Given the description of an element on the screen output the (x, y) to click on. 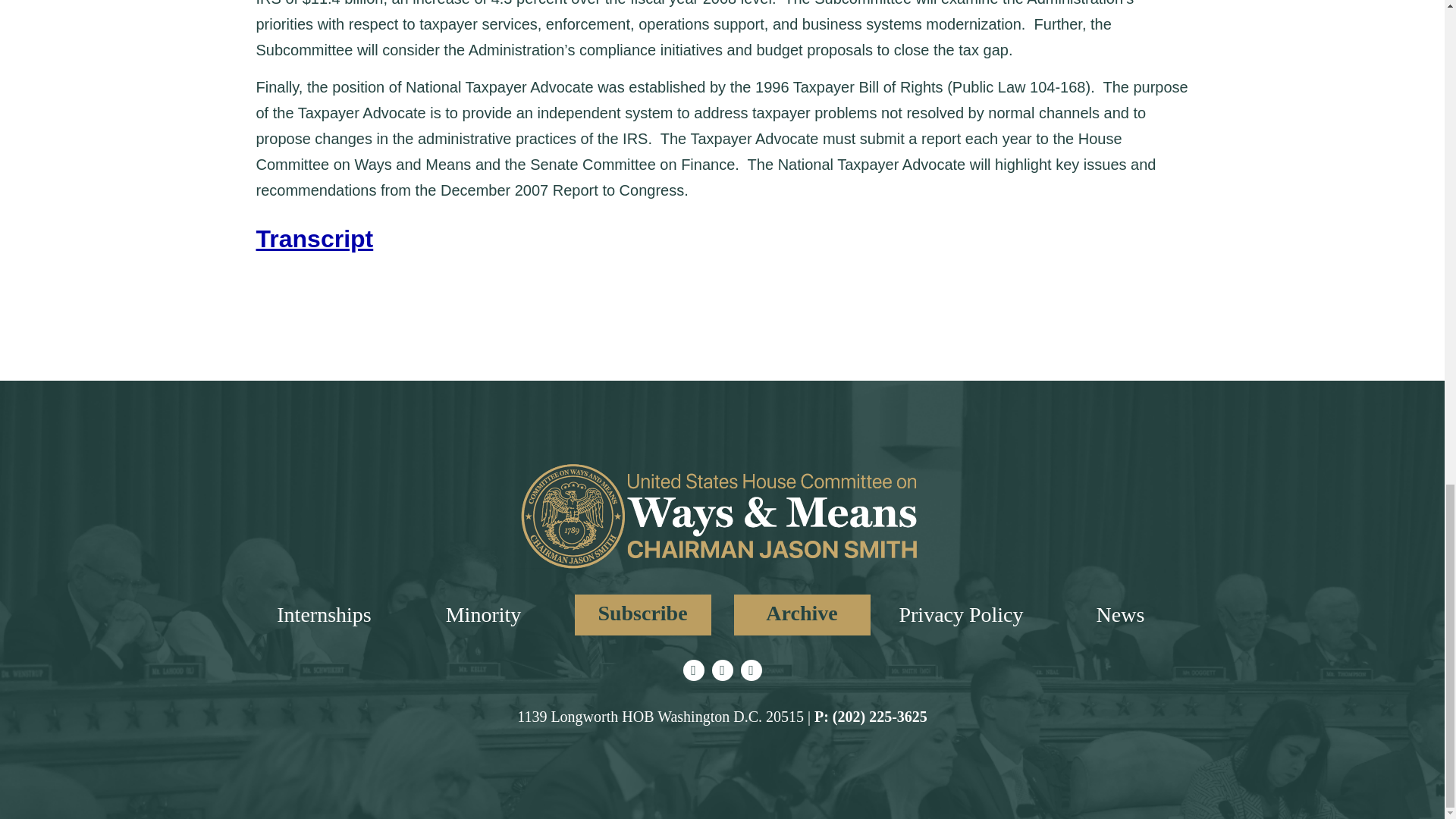
Youtube (750, 670)
Internships (323, 614)
Privacy Policy (960, 614)
Instagram (721, 670)
News (1120, 614)
Minority (483, 614)
Twitter (692, 670)
Archive (801, 614)
Transcript (315, 238)
Subscribe (643, 614)
